Given the description of an element on the screen output the (x, y) to click on. 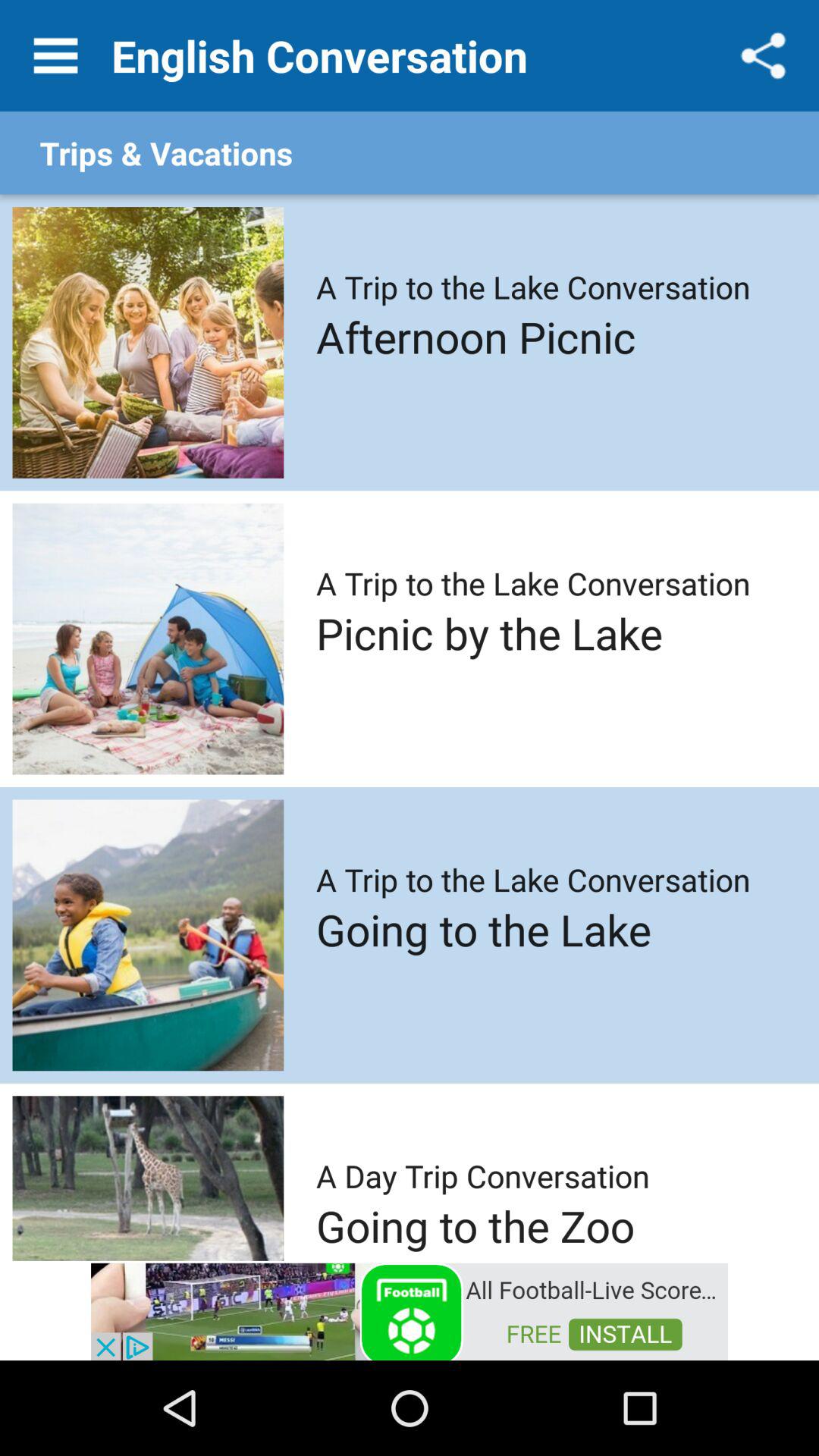
advertisement page (409, 1310)
